Given the description of an element on the screen output the (x, y) to click on. 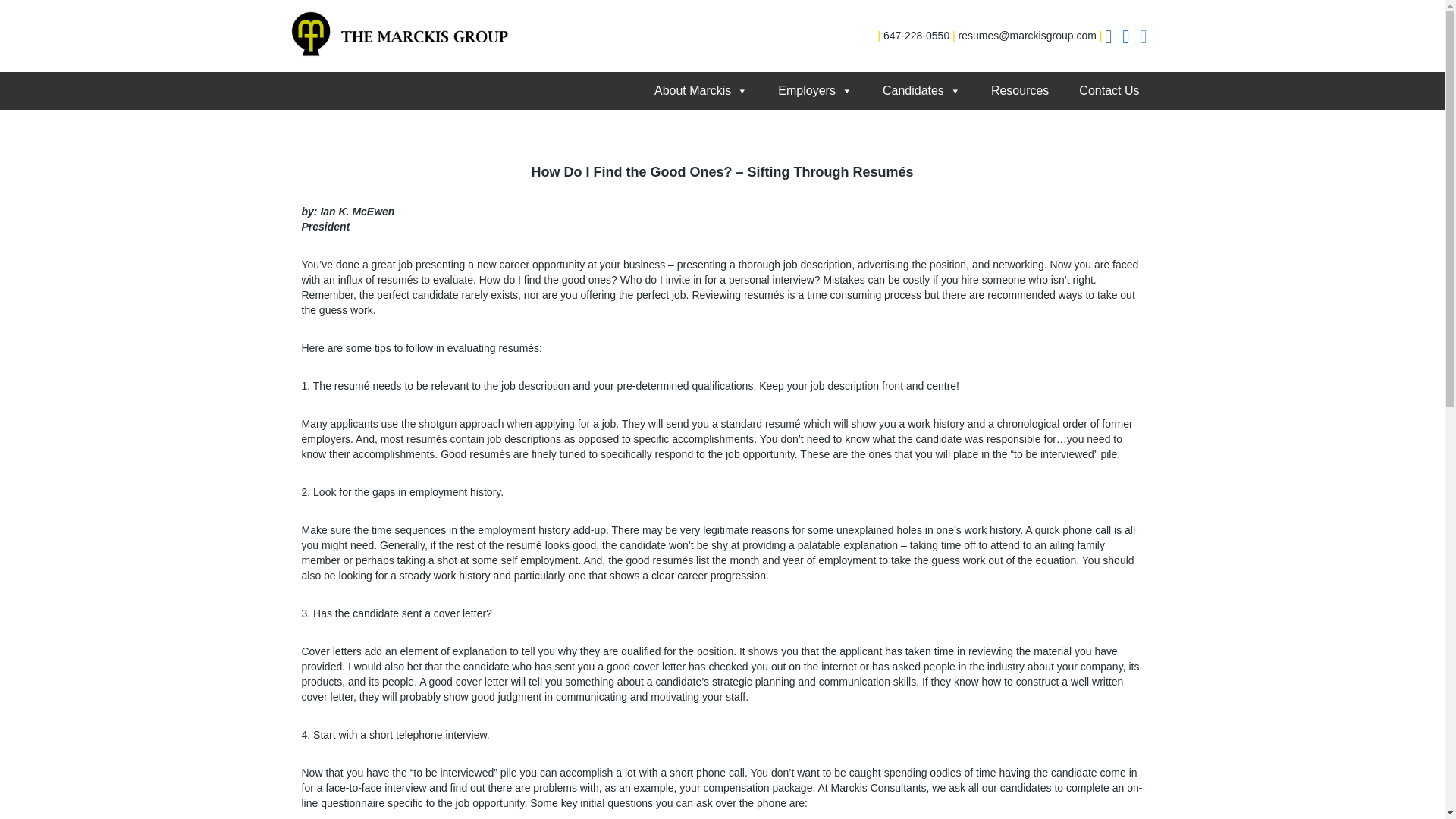
Candidates (921, 90)
Resources (1019, 90)
About Marckis (700, 90)
Employers (814, 90)
647-228-0550 (916, 35)
Contact Us (1109, 90)
